Given the description of an element on the screen output the (x, y) to click on. 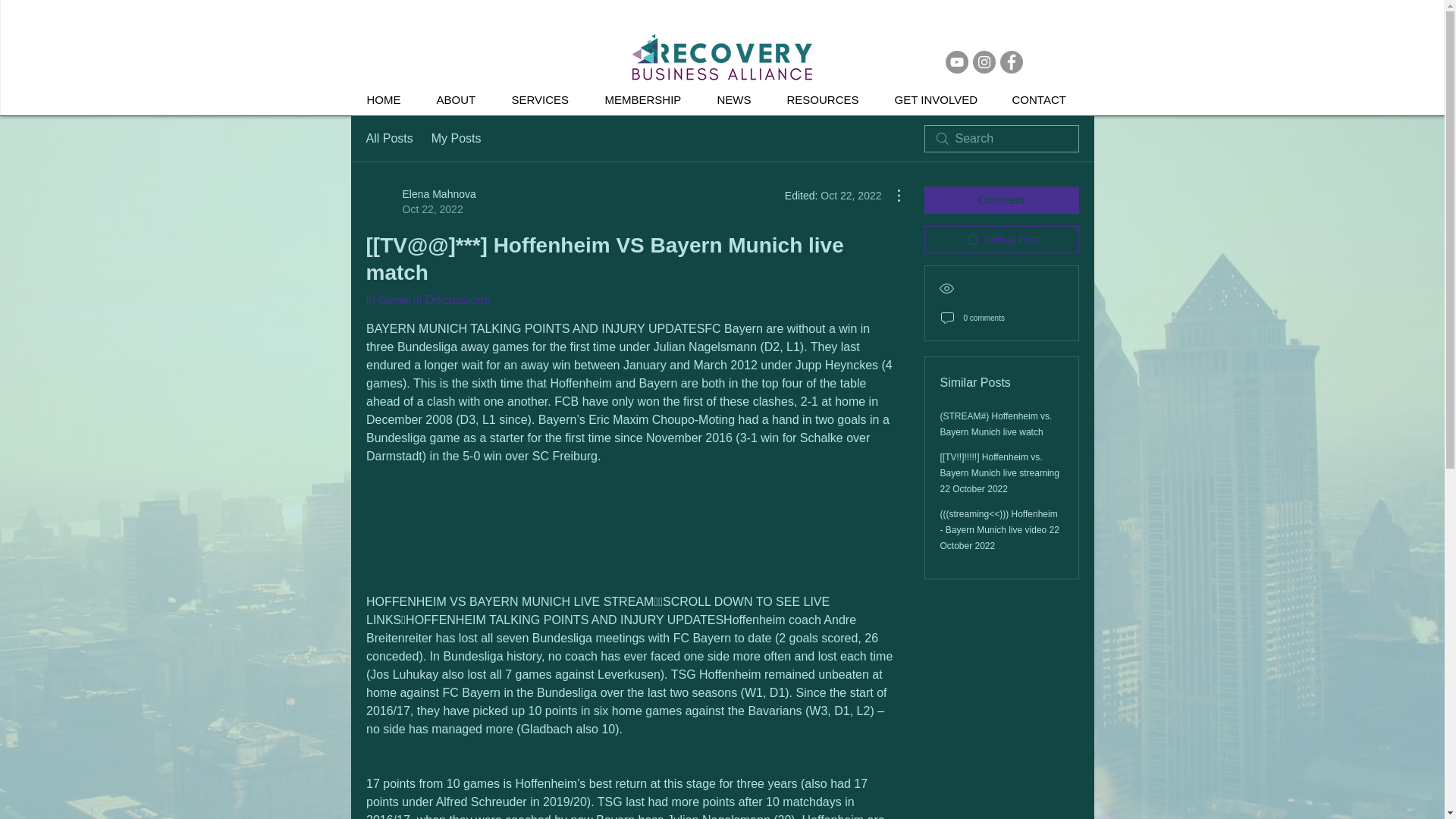
ABOUT (462, 99)
NEWS (420, 201)
My Posts (739, 99)
HOME (455, 138)
Follow Post (390, 99)
CONTACT (1000, 239)
Comment (1045, 99)
in General Discussions (1000, 199)
All Posts (427, 299)
